Given the description of an element on the screen output the (x, y) to click on. 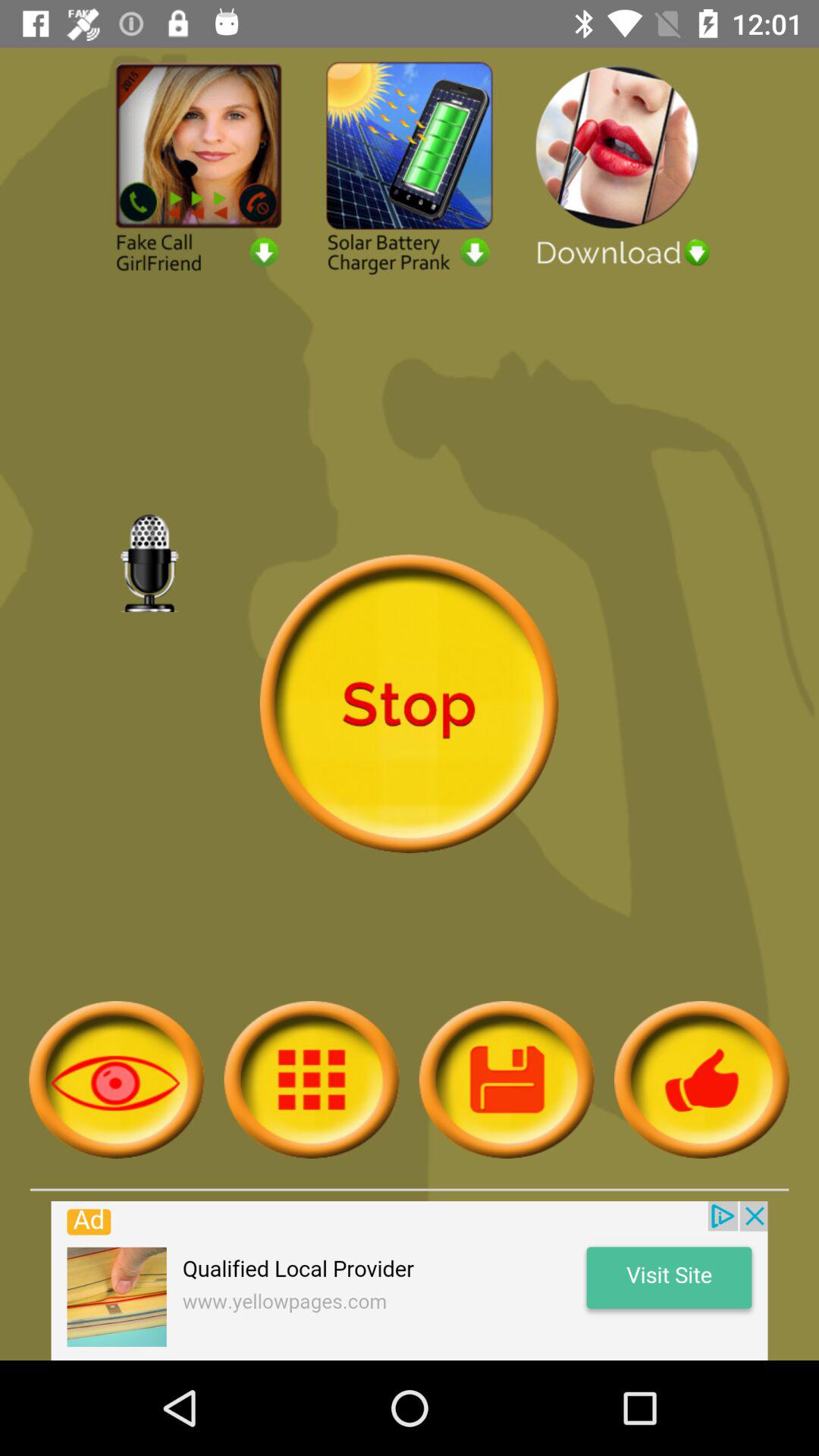
more (311, 1079)
